Given the description of an element on the screen output the (x, y) to click on. 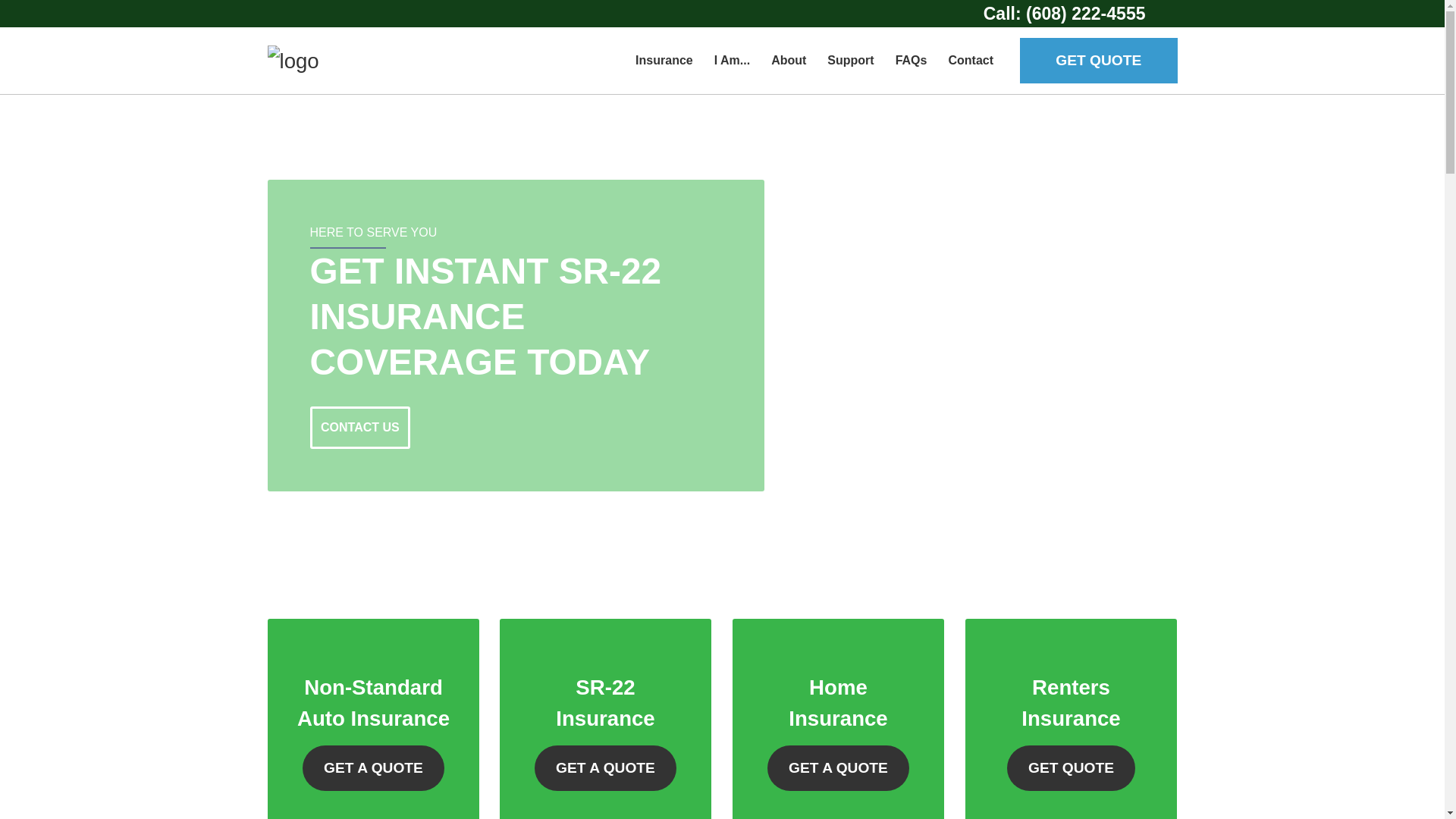
Home Page (372, 60)
I Am... (731, 60)
About (788, 60)
logo (292, 60)
Insurance (663, 60)
